Given the description of an element on the screen output the (x, y) to click on. 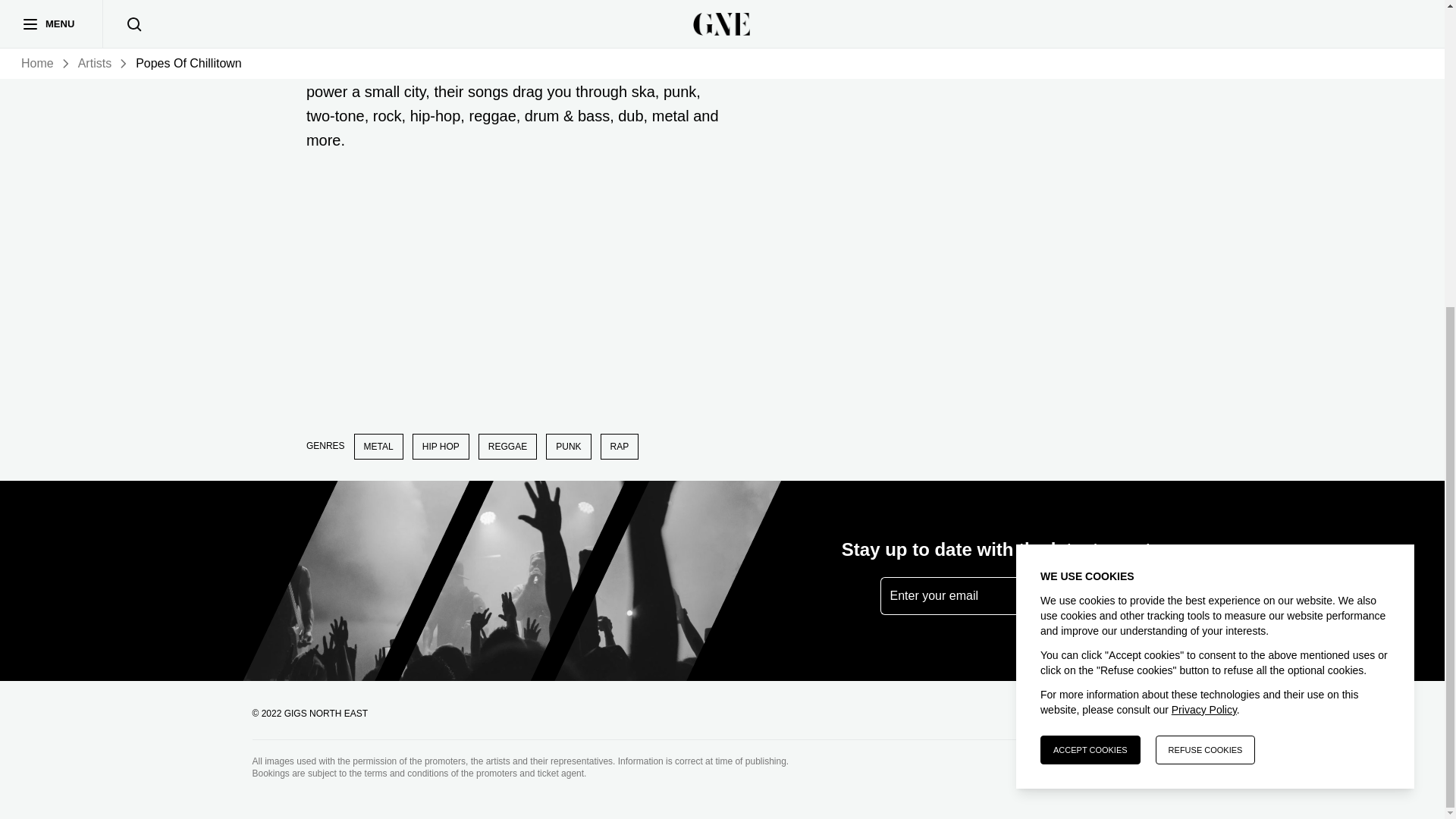
PUNK (568, 446)
RAP (619, 446)
HIP HOP (440, 446)
REGGAE (508, 446)
Privacy Policy (1204, 224)
METAL (378, 446)
